Given the description of an element on the screen output the (x, y) to click on. 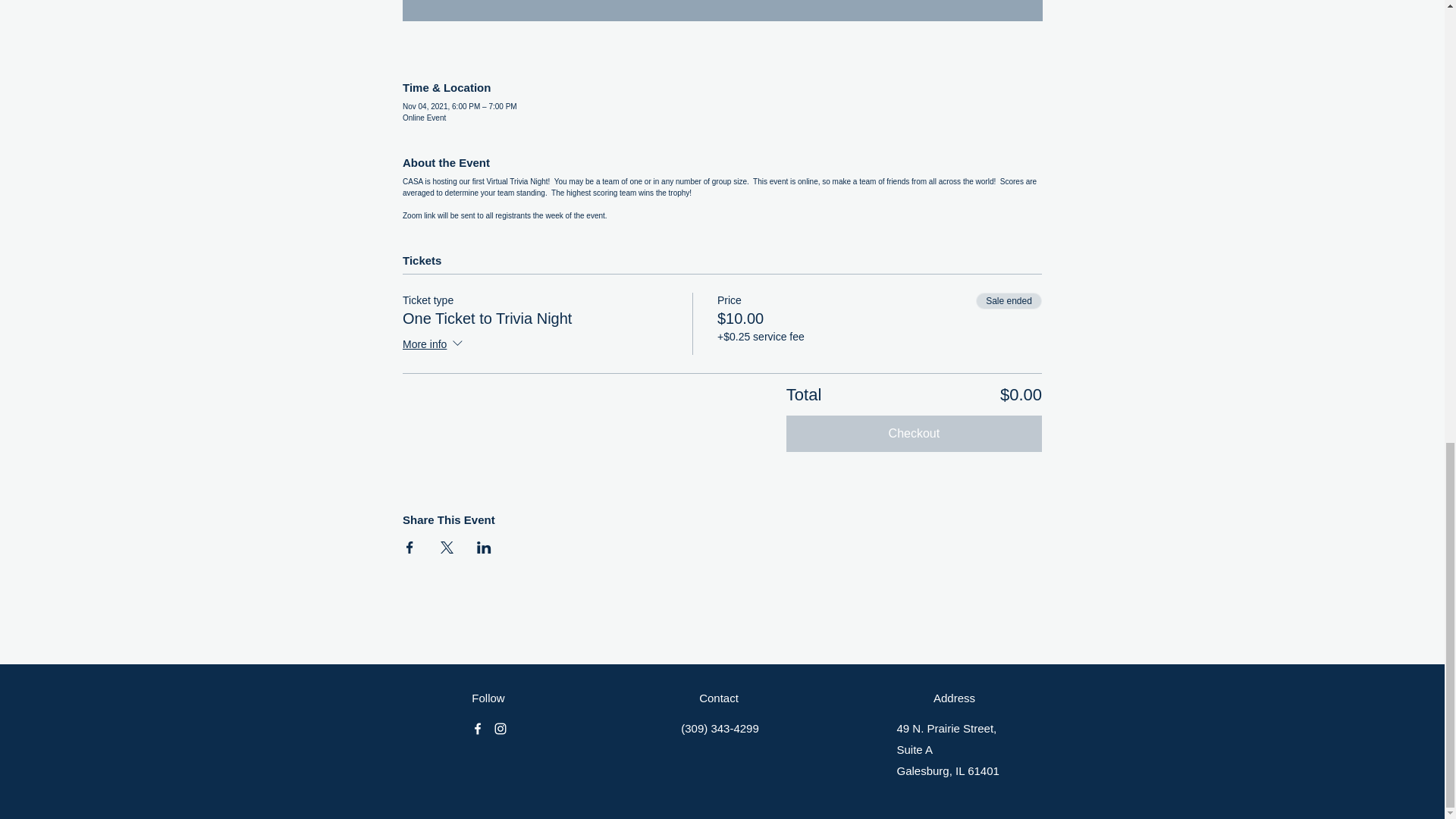
More info (434, 344)
Checkout (914, 433)
